Given the description of an element on the screen output the (x, y) to click on. 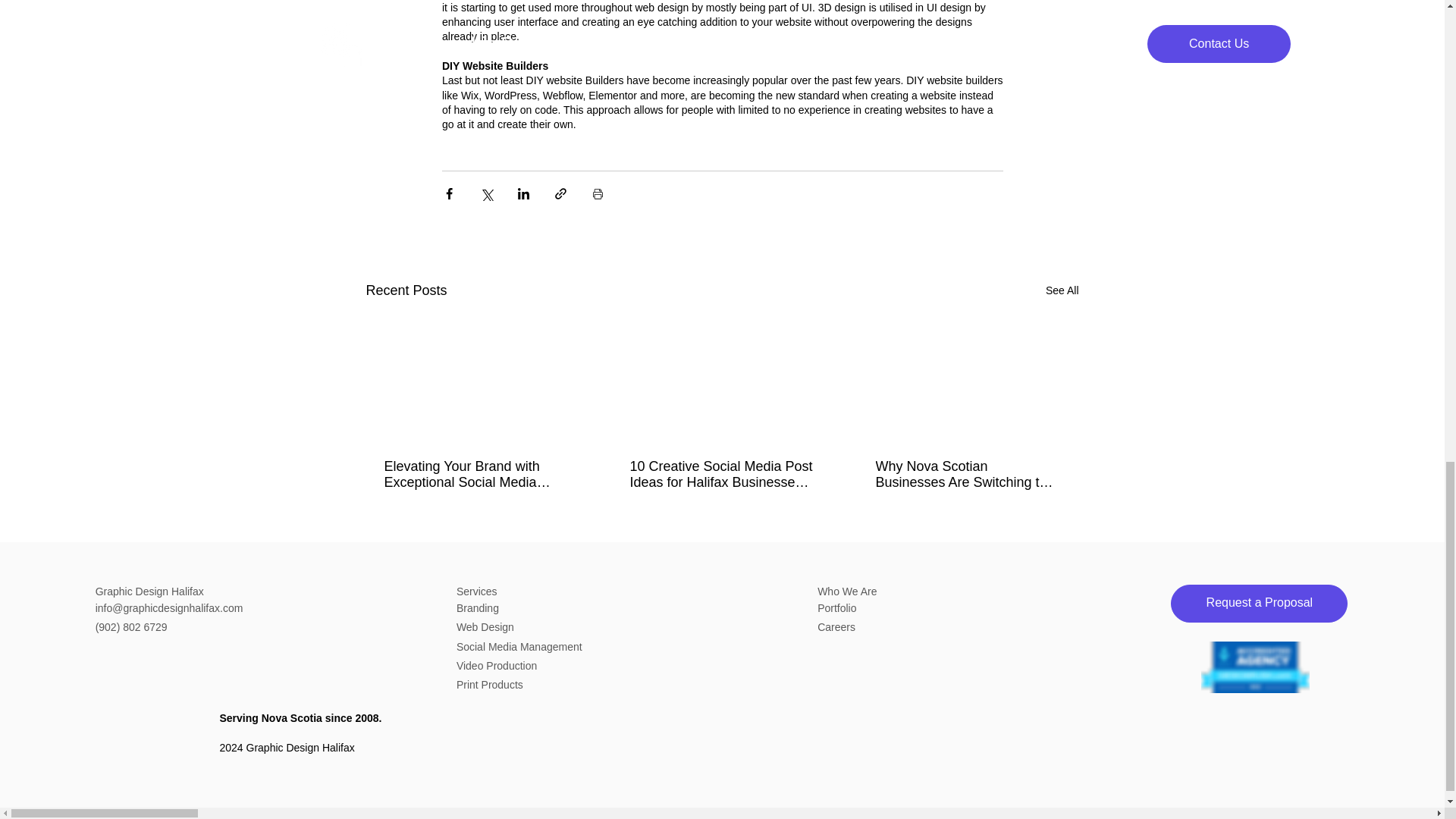
Branding (478, 607)
See All (1061, 291)
Web Design (485, 626)
Request a Proposal (1259, 603)
Portfolio (836, 607)
Careers (836, 626)
Social Media Management (519, 646)
Print Products (489, 684)
